Given the description of an element on the screen output the (x, y) to click on. 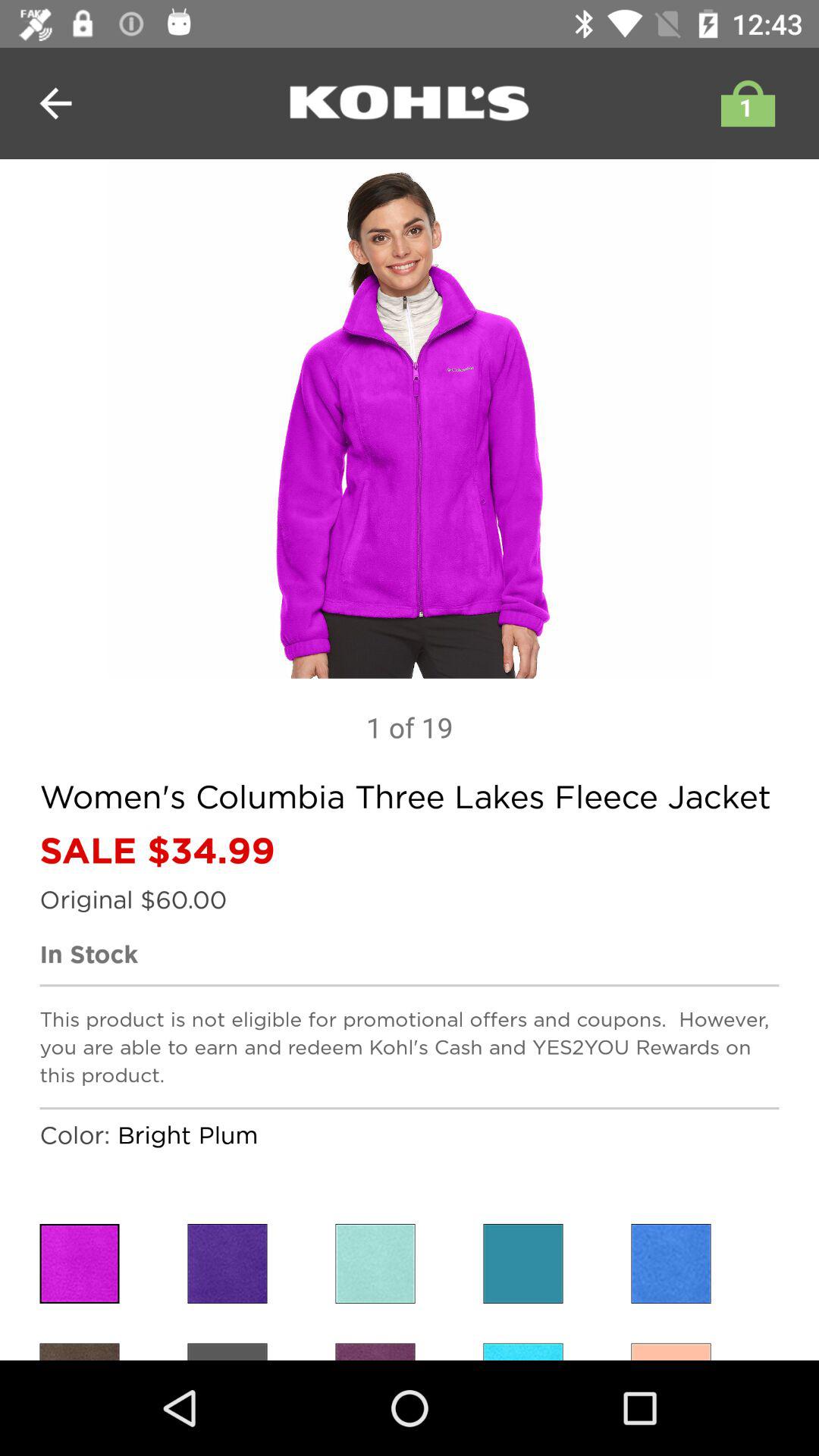
choose bright plum (227, 1263)
